Given the description of an element on the screen output the (x, y) to click on. 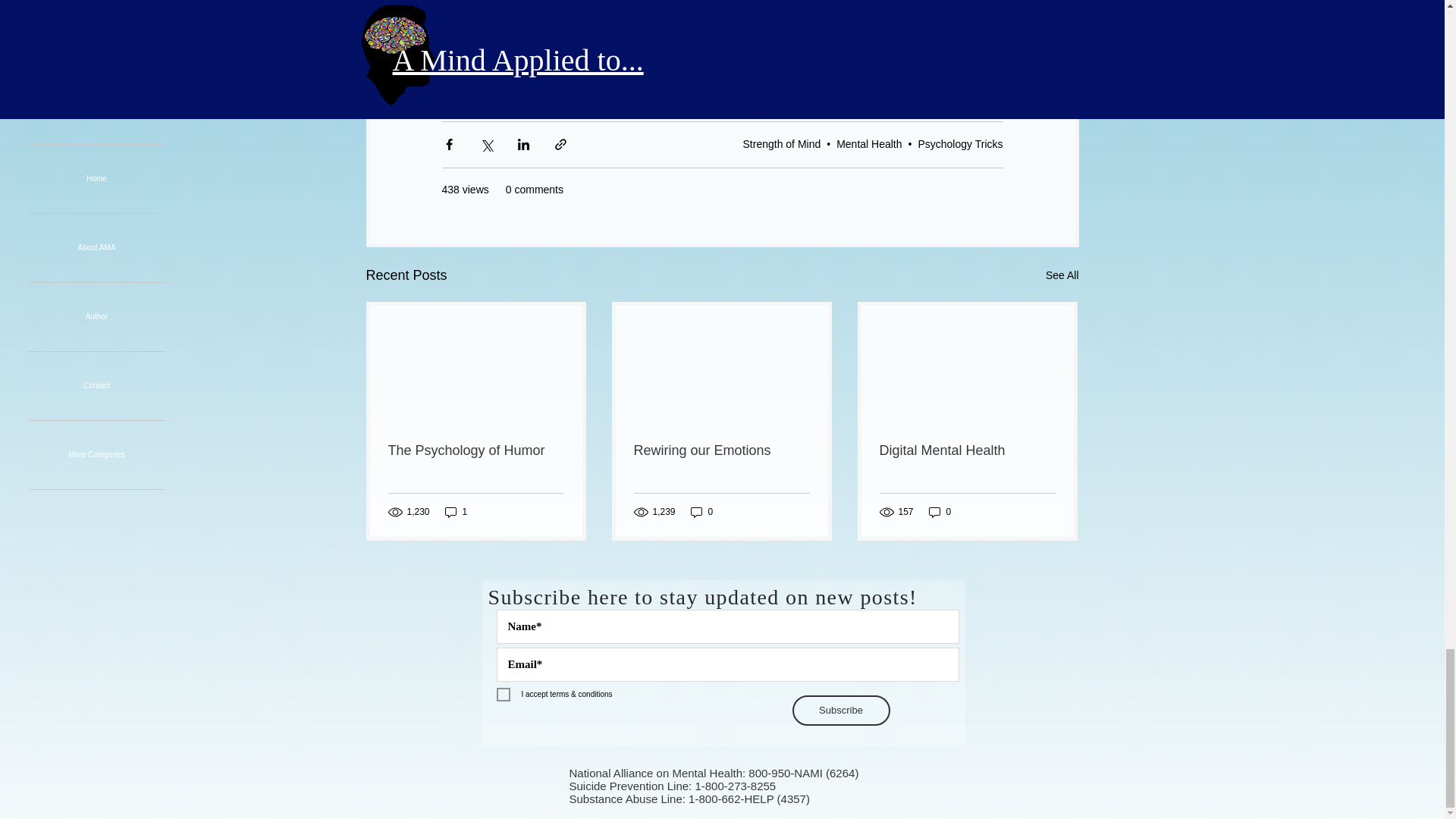
emotion (470, 87)
Mental Health (868, 143)
Strength of Mind (781, 143)
therapy (769, 87)
rationality (639, 87)
psychology tricks (853, 87)
stoicism (707, 87)
strength of mind (552, 87)
